Given the description of an element on the screen output the (x, y) to click on. 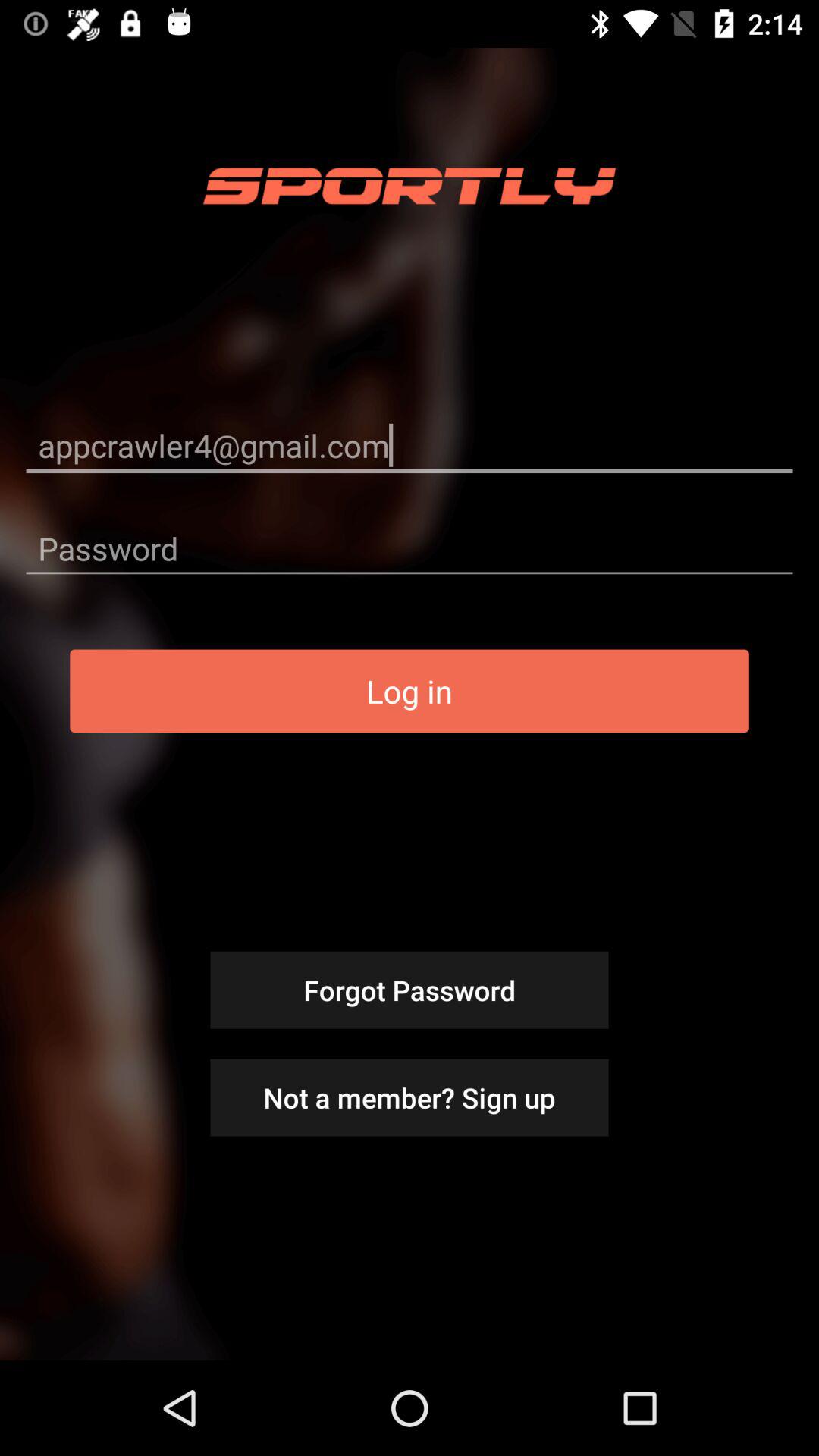
launch forgot password (409, 989)
